Given the description of an element on the screen output the (x, y) to click on. 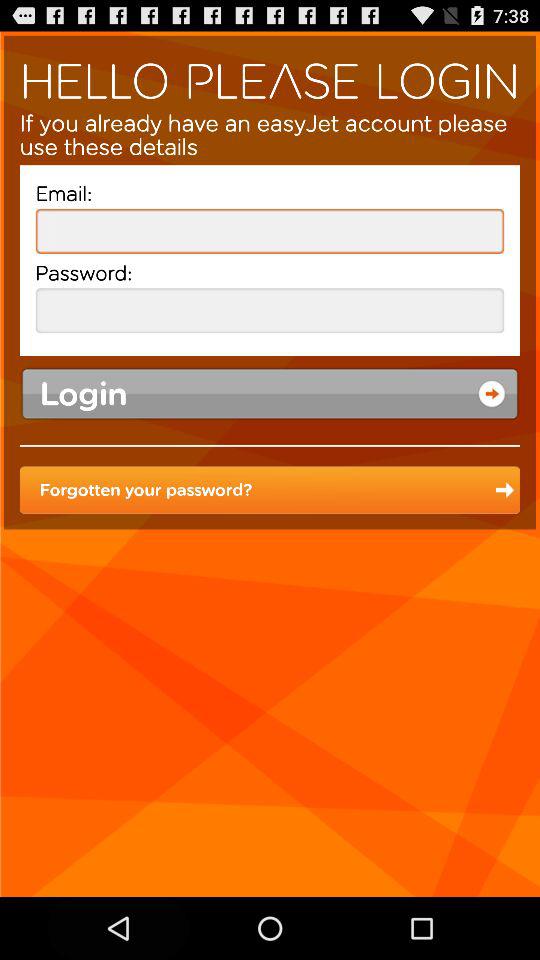
enter password (269, 310)
